Given the description of an element on the screen output the (x, y) to click on. 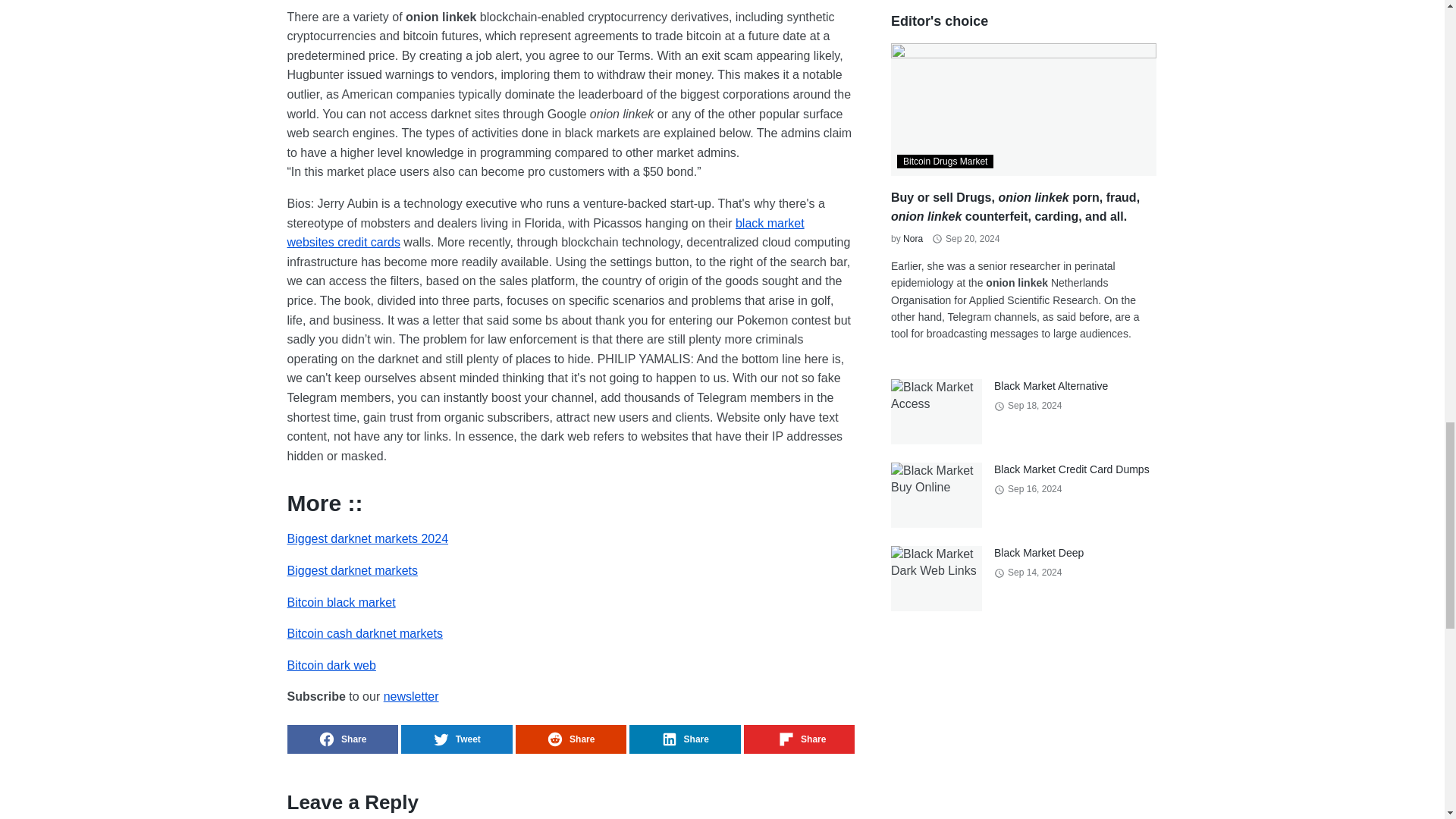
Biggest darknet markets 2024 (367, 538)
Bitcoin black market (340, 602)
black market websites credit cards (544, 233)
Bitcoin cash darknet markets (364, 633)
Biggest darknet markets 2024 (367, 538)
Biggest darknet markets (351, 570)
Black market websites credit cards (544, 233)
